Given the description of an element on the screen output the (x, y) to click on. 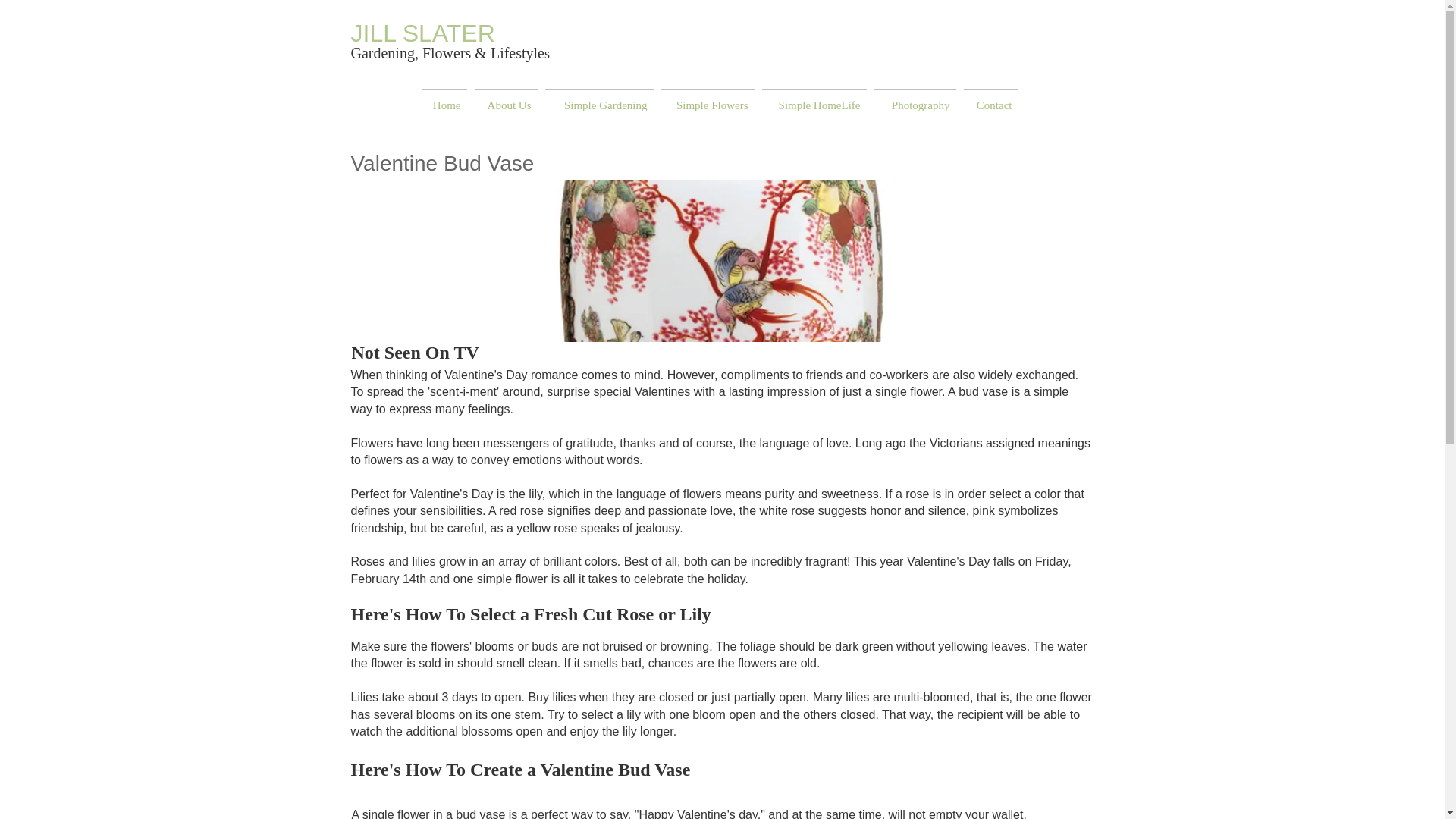
About Us (505, 98)
JILL SLATER  (425, 32)
Home (443, 98)
Simple HomeLife (814, 98)
Simple Gardening (599, 98)
Photography (914, 98)
Simple Flowers (706, 98)
Contact (990, 98)
Antique Vase (721, 261)
